Given the description of an element on the screen output the (x, y) to click on. 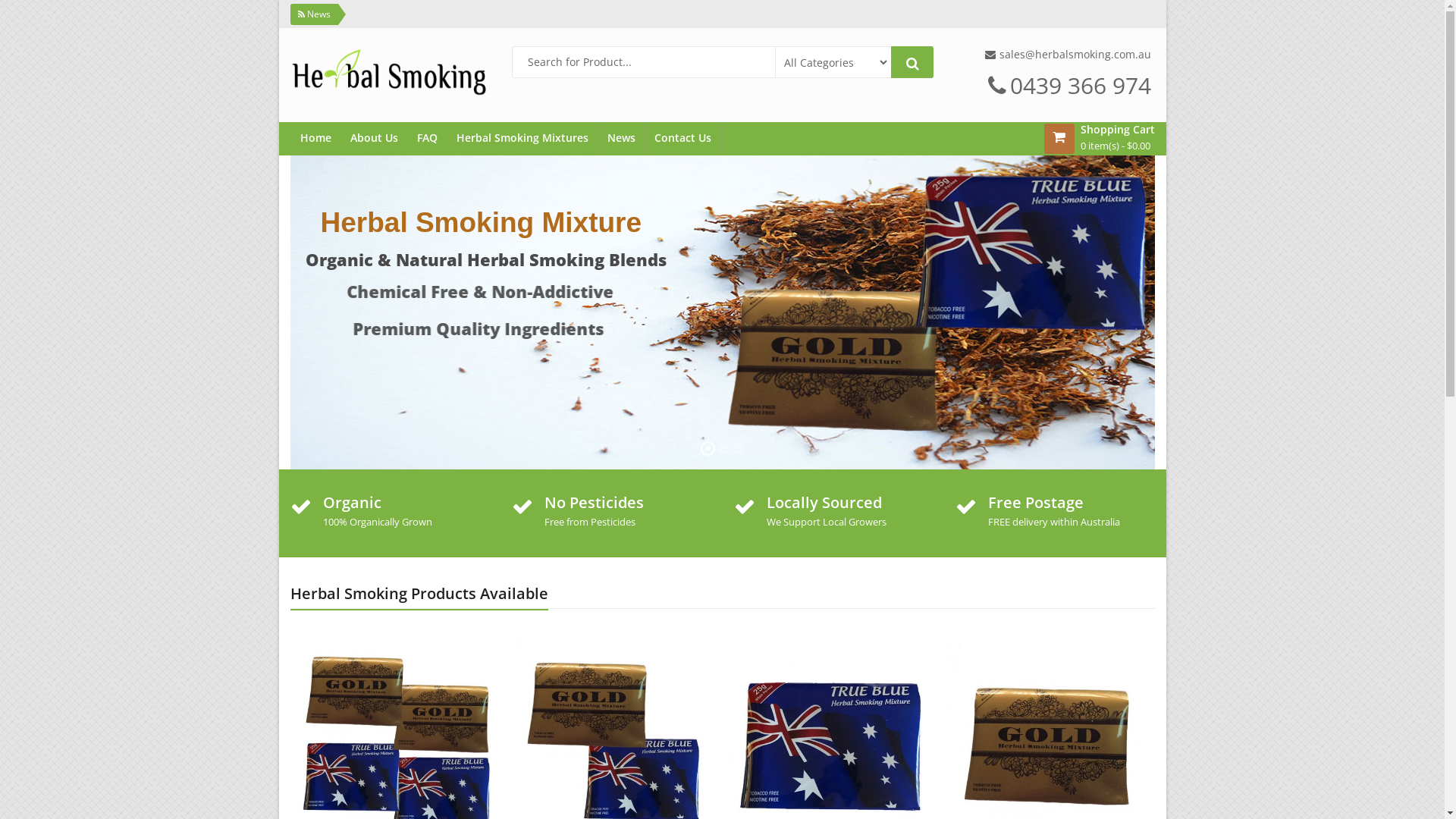
Chemical free & non-addictive Element type: text (283, 11)
Hand-crafted herbal mixtures Element type: text (129, 11)
News Element type: text (620, 137)
Herbal Smoking Mixtures Element type: text (522, 137)
About Us Element type: text (374, 137)
Contact Us Element type: text (681, 137)
FAQ Element type: text (426, 137)
Home Element type: text (315, 137)
Shopping Cart
0 item(s) - $0.00 Element type: text (1116, 138)
